Given the description of an element on the screen output the (x, y) to click on. 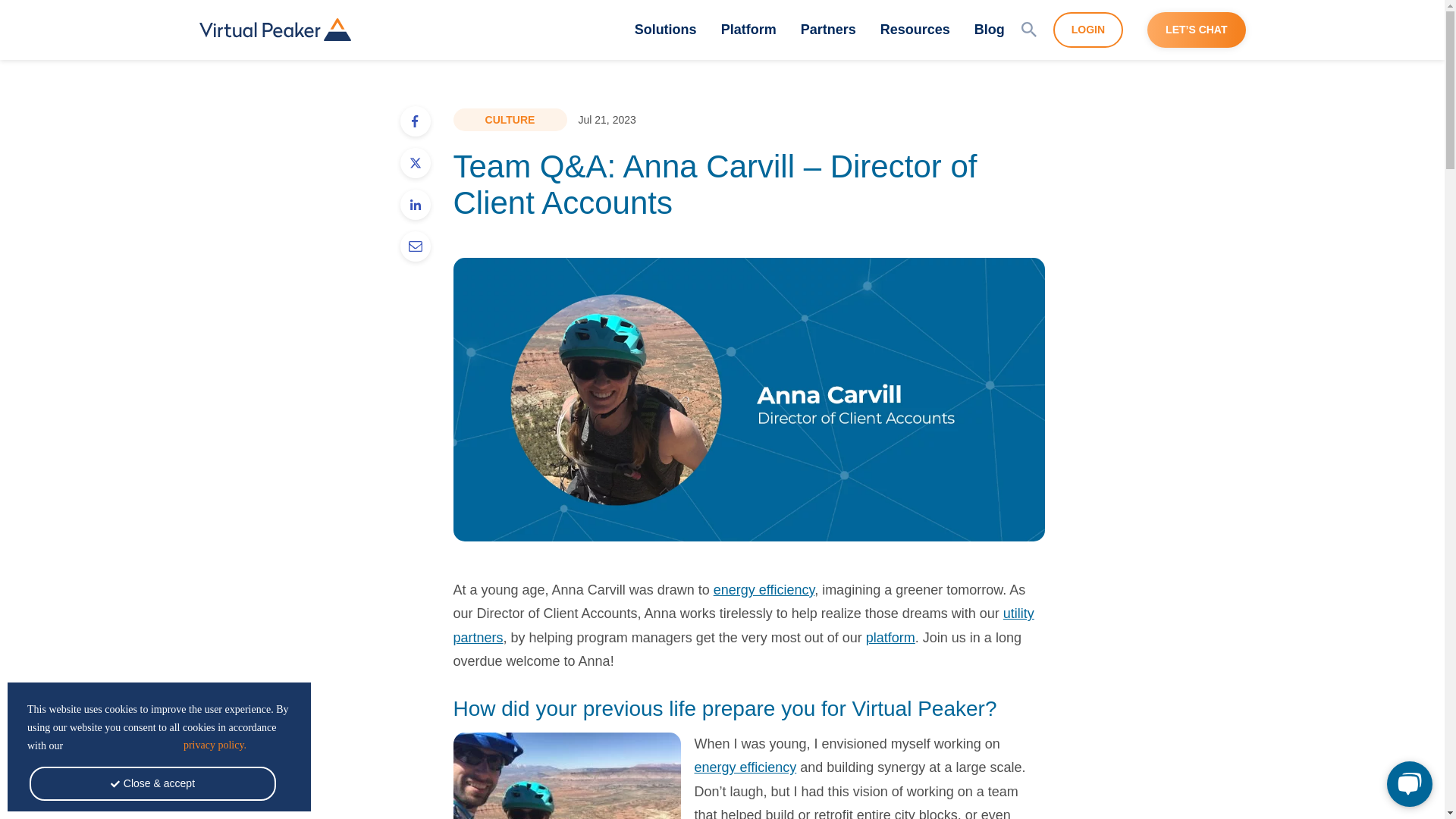
Energy Efficiency Day and Distributed Energy Resources (763, 589)
Virtual Peaker Utility Partners (742, 625)
Solutions (665, 28)
Virtual Peaker Platform (890, 637)
